Given the description of an element on the screen output the (x, y) to click on. 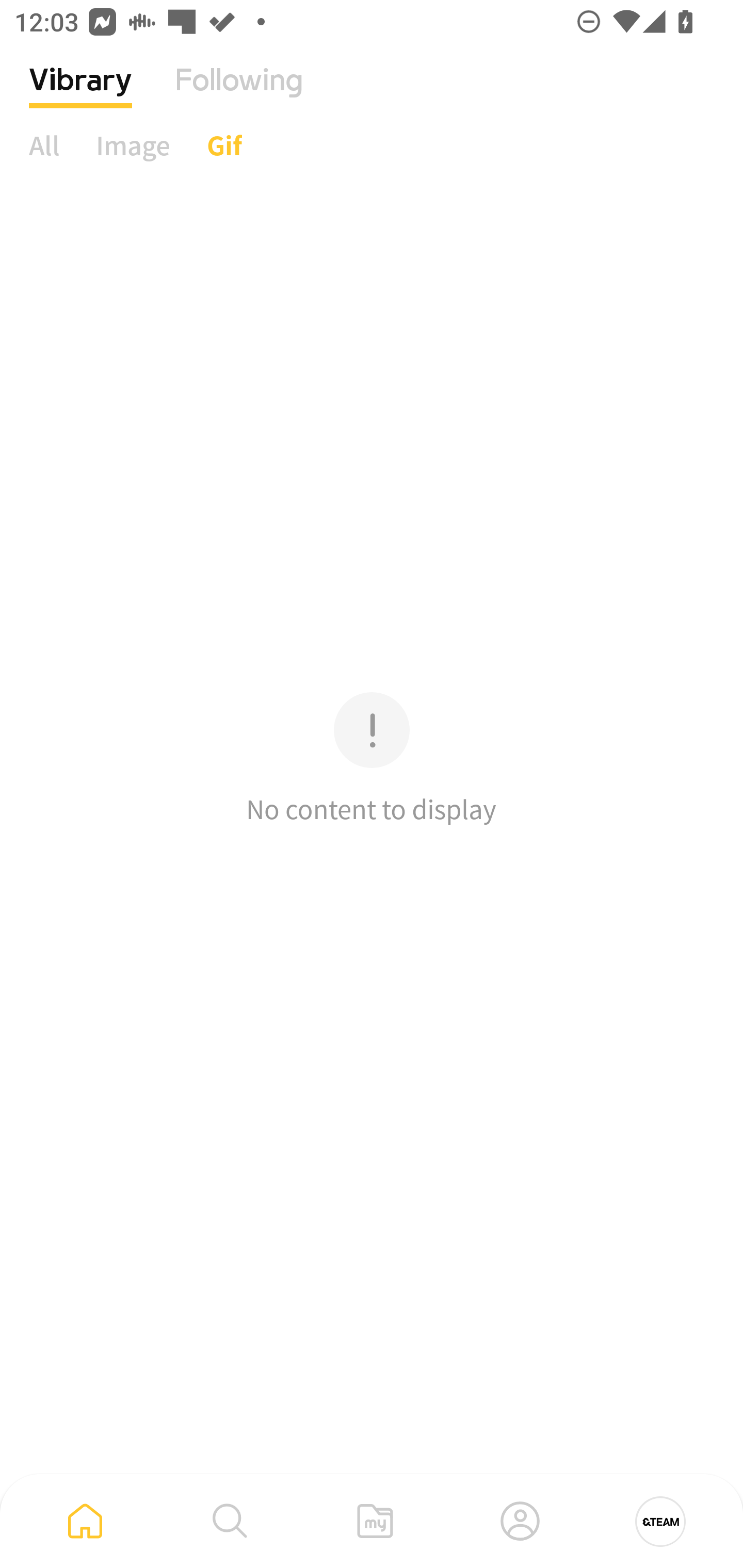
Vibrary (80, 95)
Following (239, 95)
All (44, 145)
Image (132, 145)
Gif (224, 145)
